Given the description of an element on the screen output the (x, y) to click on. 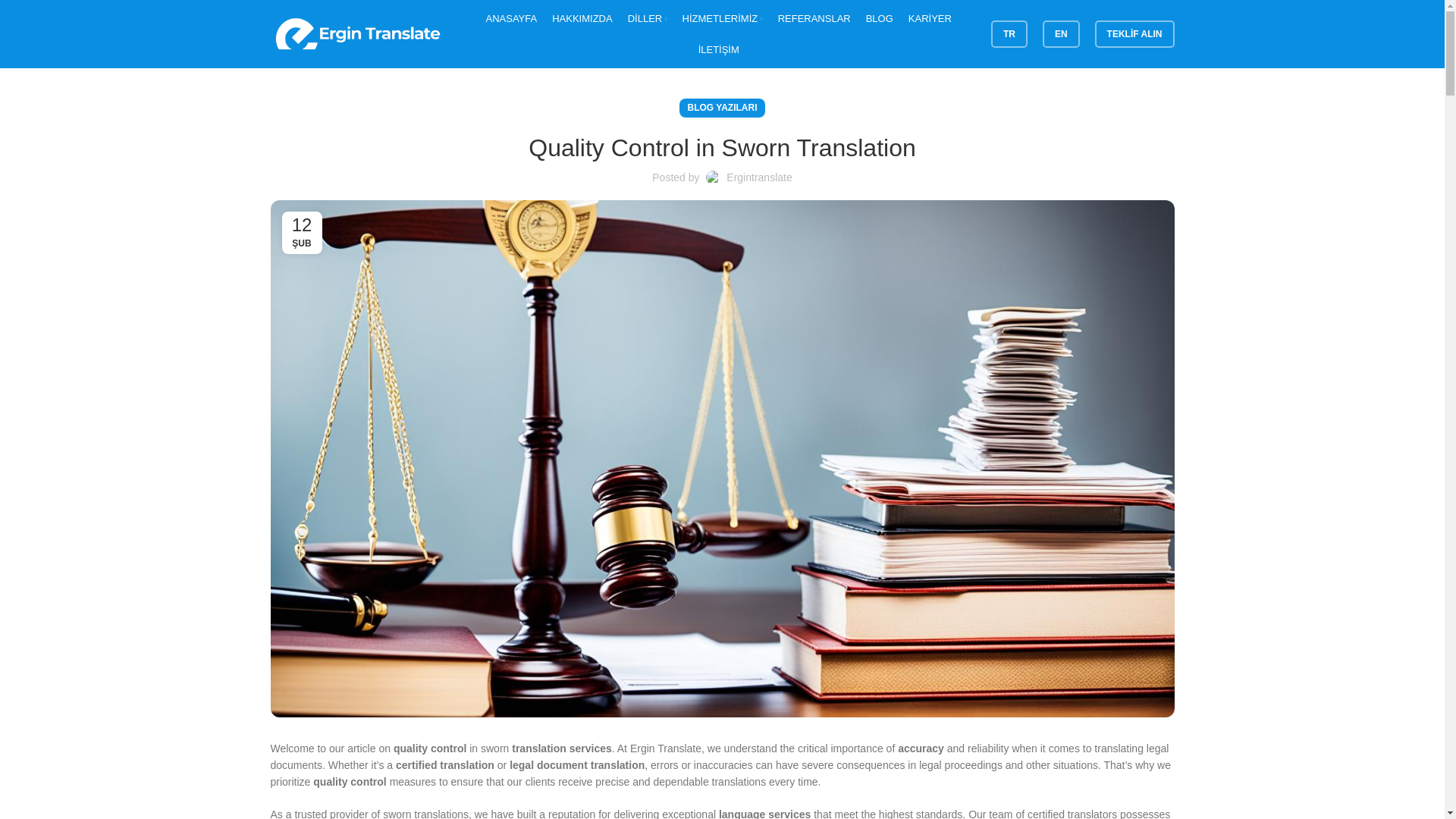
DILLER (646, 18)
ANASAYFA (511, 18)
HAKKIMIZDA (581, 18)
